Given the description of an element on the screen output the (x, y) to click on. 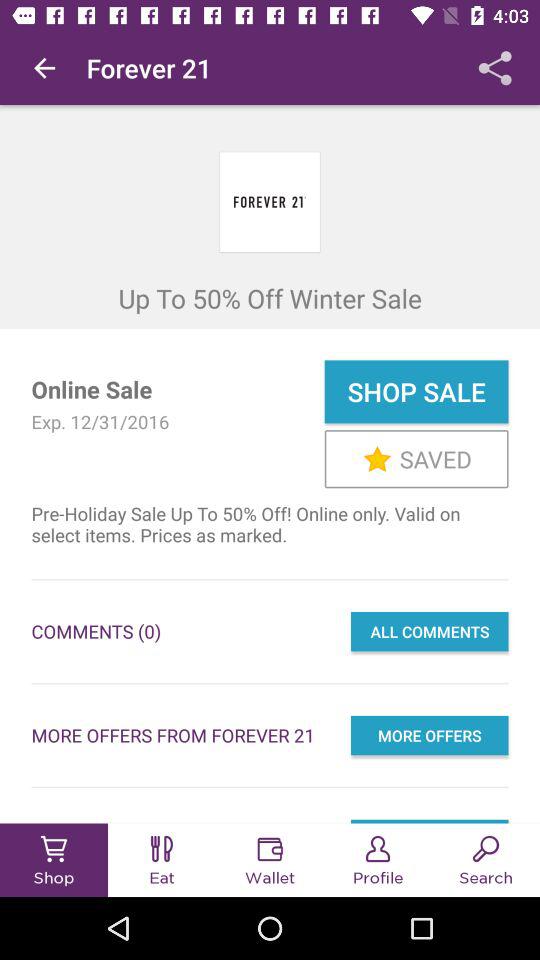
select icon next to forever 21 item (44, 68)
